Given the description of an element on the screen output the (x, y) to click on. 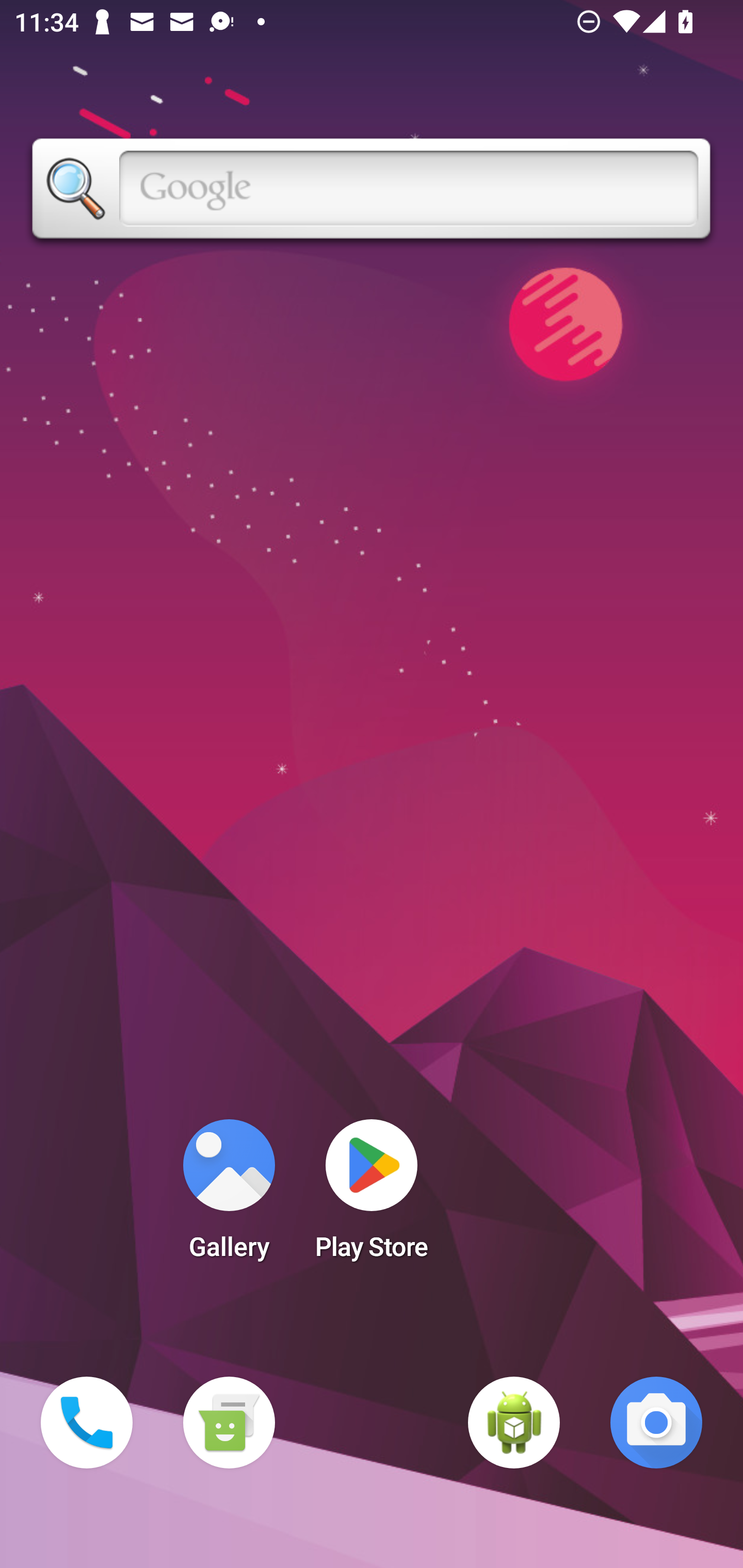
Gallery (228, 1195)
Play Store (371, 1195)
Phone (86, 1422)
Messaging (228, 1422)
WebView Browser Tester (513, 1422)
Camera (656, 1422)
